Given the description of an element on the screen output the (x, y) to click on. 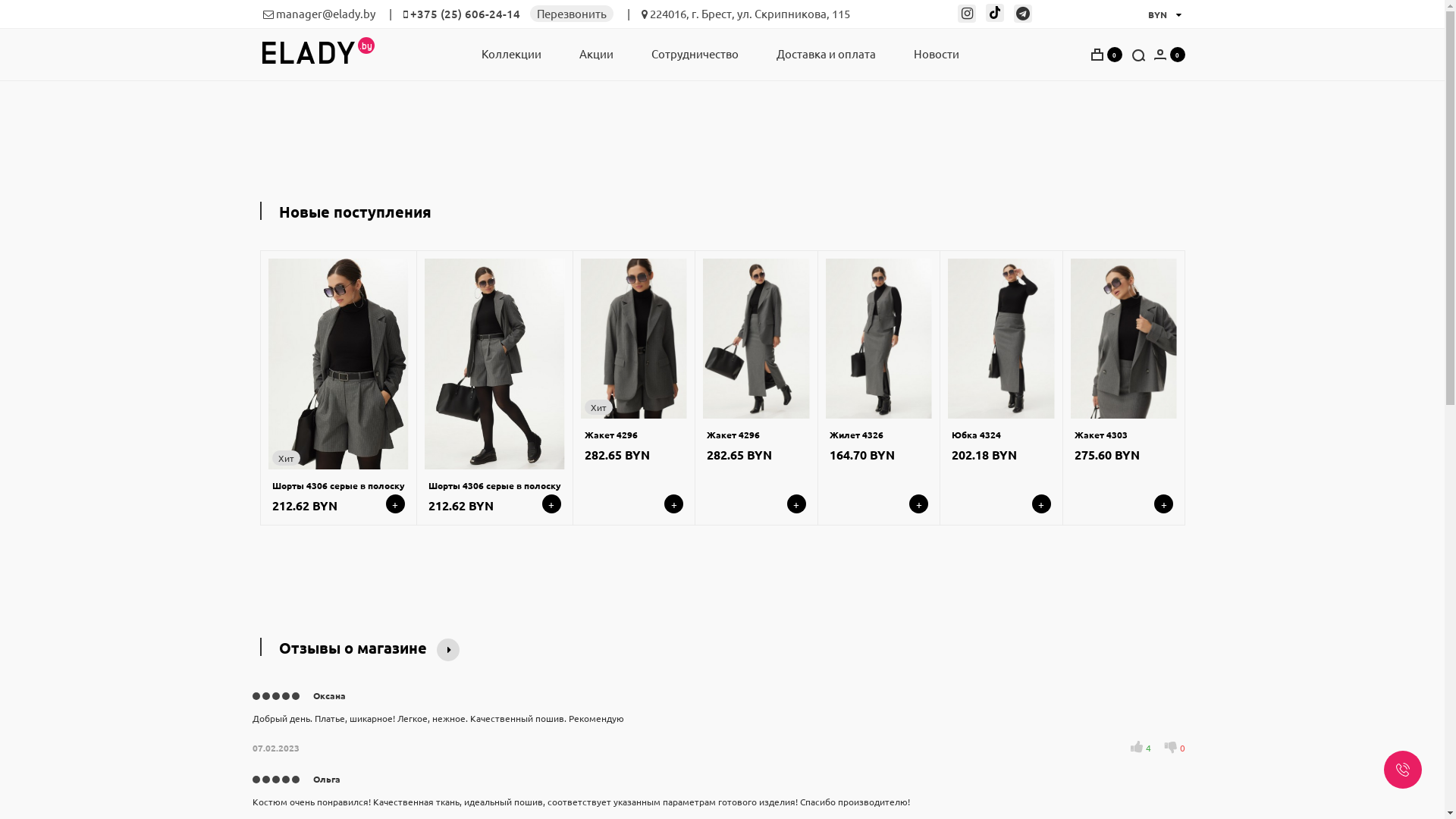
TikTok Element type: hover (998, 13)
ELADY Element type: text (308, 49)
4 Element type: text (1139, 747)
Telegram Element type: hover (1026, 13)
0 Element type: text (1174, 747)
+375 (25) 606-24-14 Element type: text (464, 13)
manager@elady.by Element type: text (325, 13)
